Given the description of an element on the screen output the (x, y) to click on. 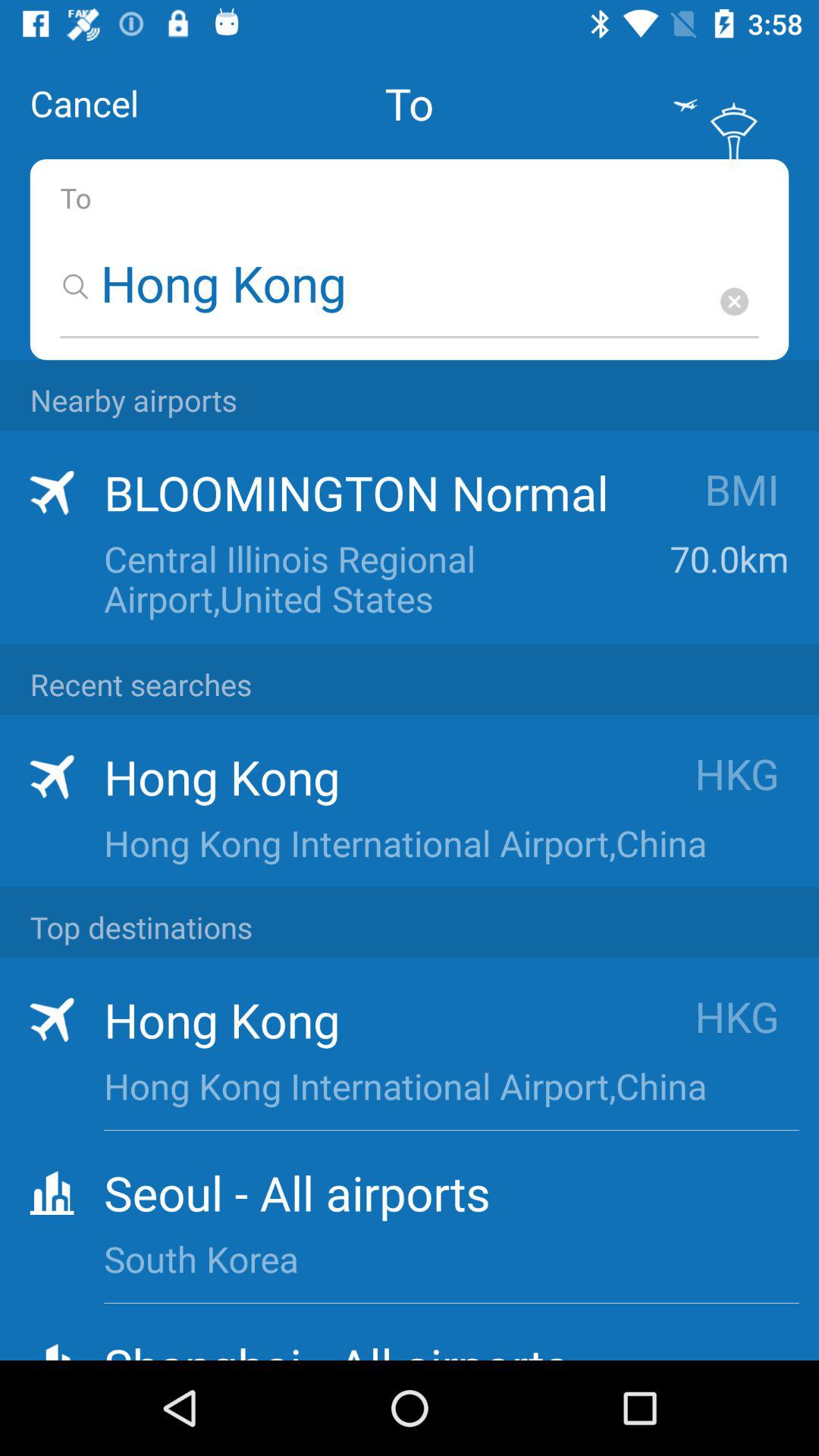
tap item above the to icon (84, 103)
